Given the description of an element on the screen output the (x, y) to click on. 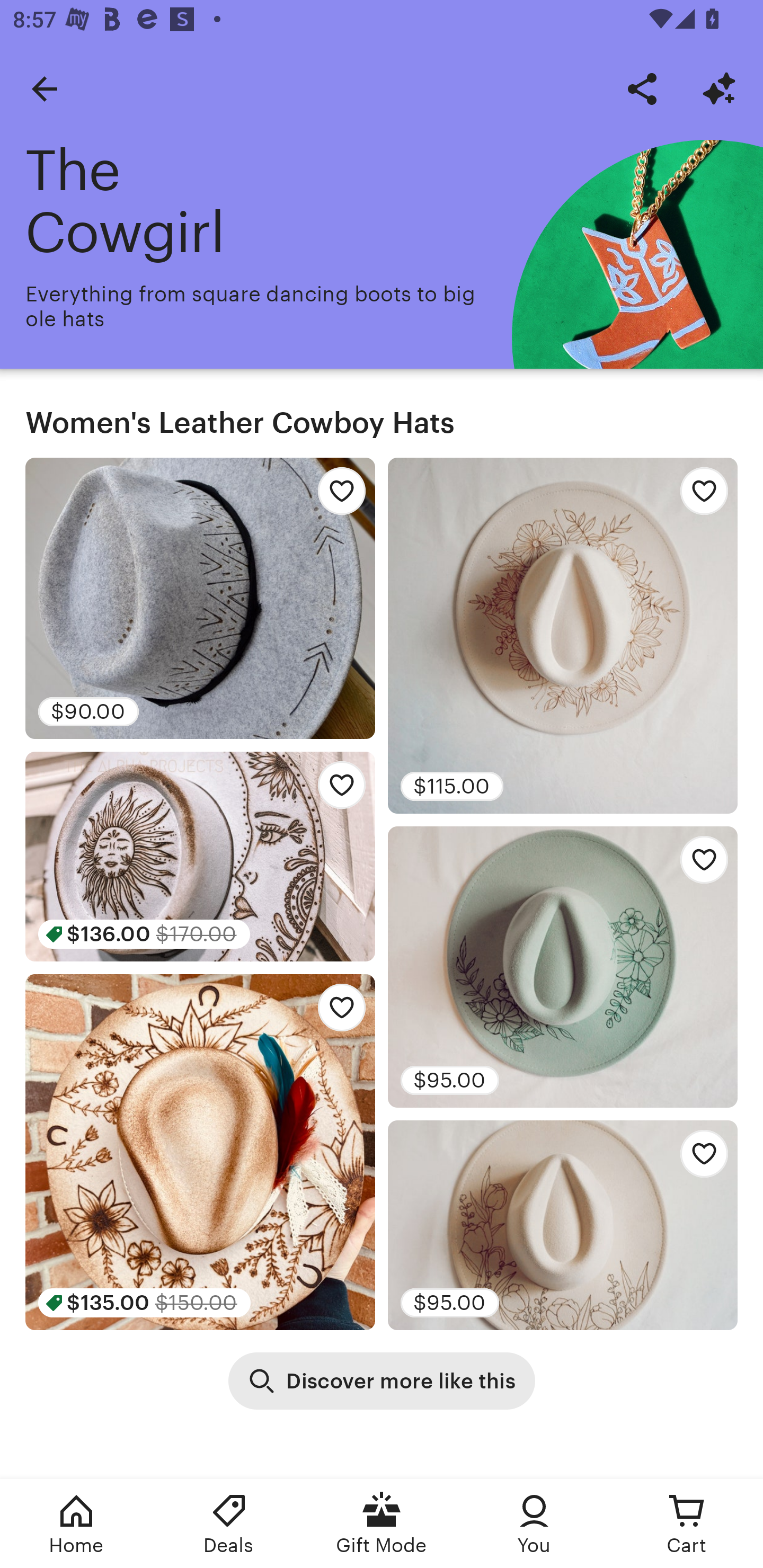
Back (44, 88)
$90.00 (200, 597)
$115.00 (562, 635)
Sale price: $136.00 $136.00 $170.00 (200, 856)
$95.00 (562, 966)
Sale price: $135.00 $135.00 $150.00 (200, 1151)
$95.00 (562, 1225)
Discover more like this (381, 1380)
Home (76, 1523)
Deals (228, 1523)
You (533, 1523)
Cart (686, 1523)
